Given the description of an element on the screen output the (x, y) to click on. 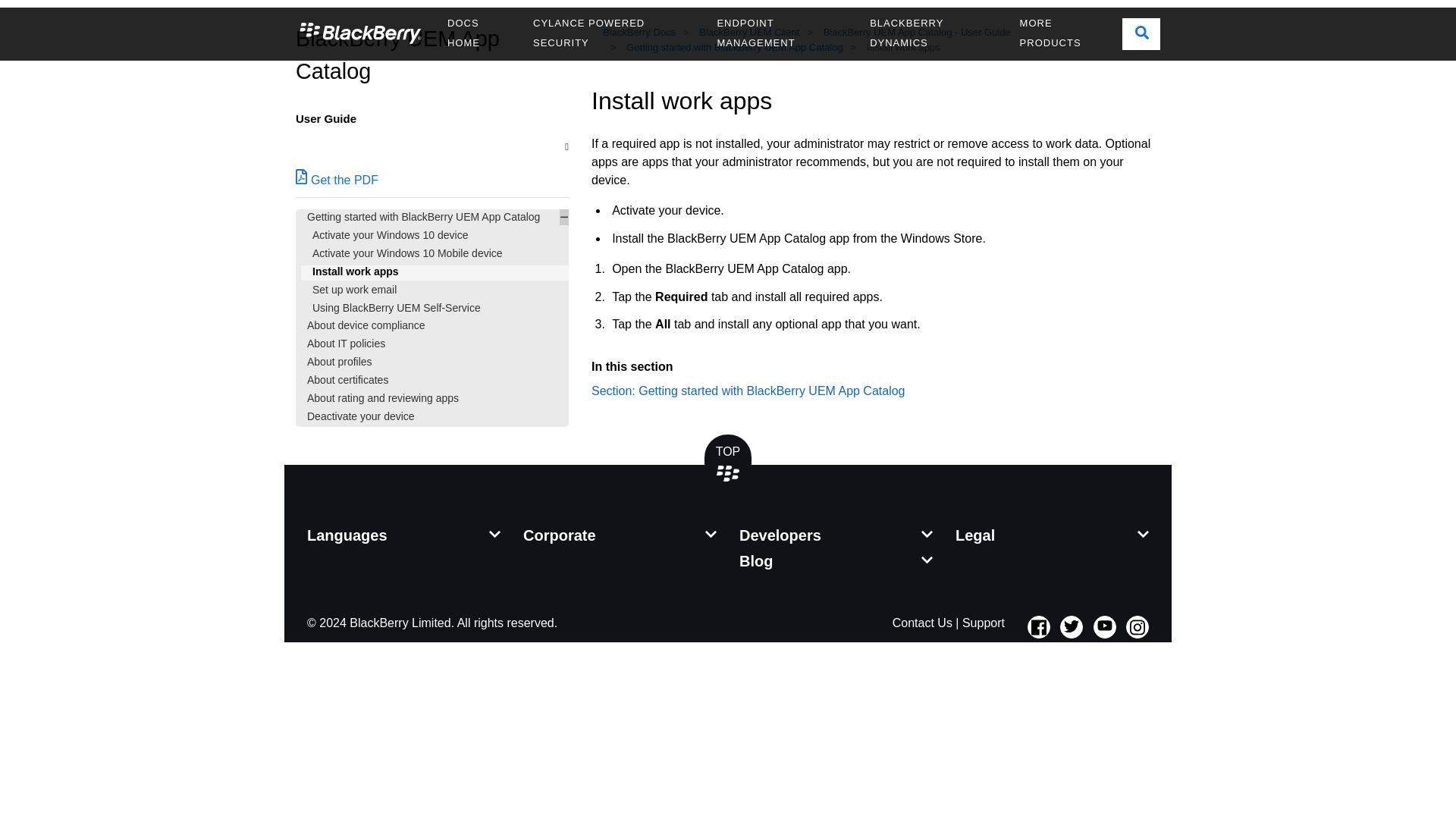
DOCS HOME (478, 33)
BLACKBERRY DYNAMICS (933, 33)
ENDPOINT MANAGEMENT (781, 33)
CYLANCE POWERED SECURITY (612, 33)
MORE PRODUCTS (1065, 33)
